Given the description of an element on the screen output the (x, y) to click on. 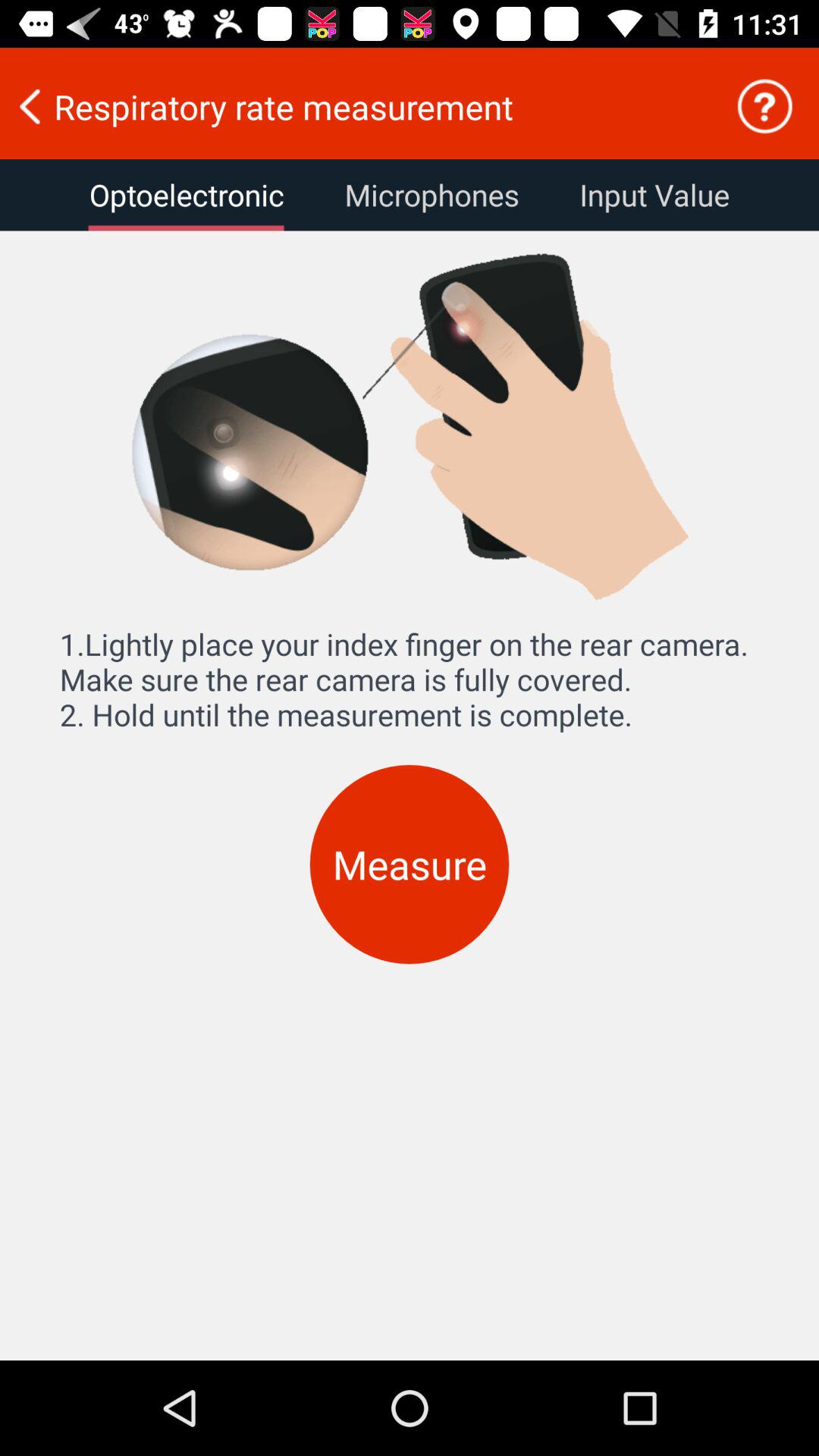
select icon to the right of the respiratory rate measurement (764, 106)
